Given the description of an element on the screen output the (x, y) to click on. 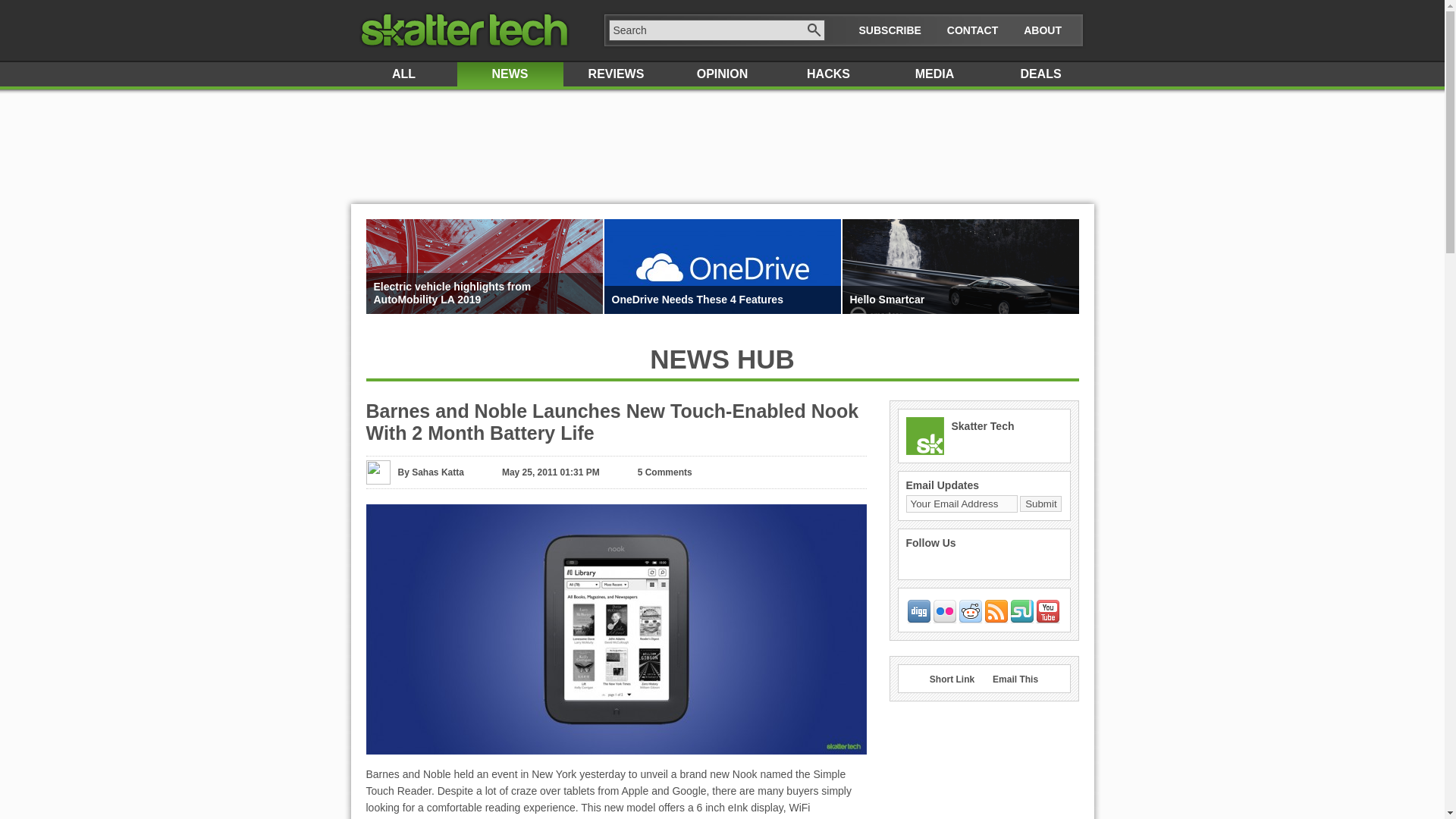
Opinion (721, 74)
NEWS (509, 74)
OPINION (721, 74)
DEALS (1040, 74)
CONTACT (972, 30)
Subscribe To Skatter Tech (889, 30)
Follow Us (930, 542)
Go To: Hello Smartcar (959, 299)
Go To: Hello Smartcar (959, 309)
Go To: OneDrive Needs These 4 Features (722, 299)
